Given the description of an element on the screen output the (x, y) to click on. 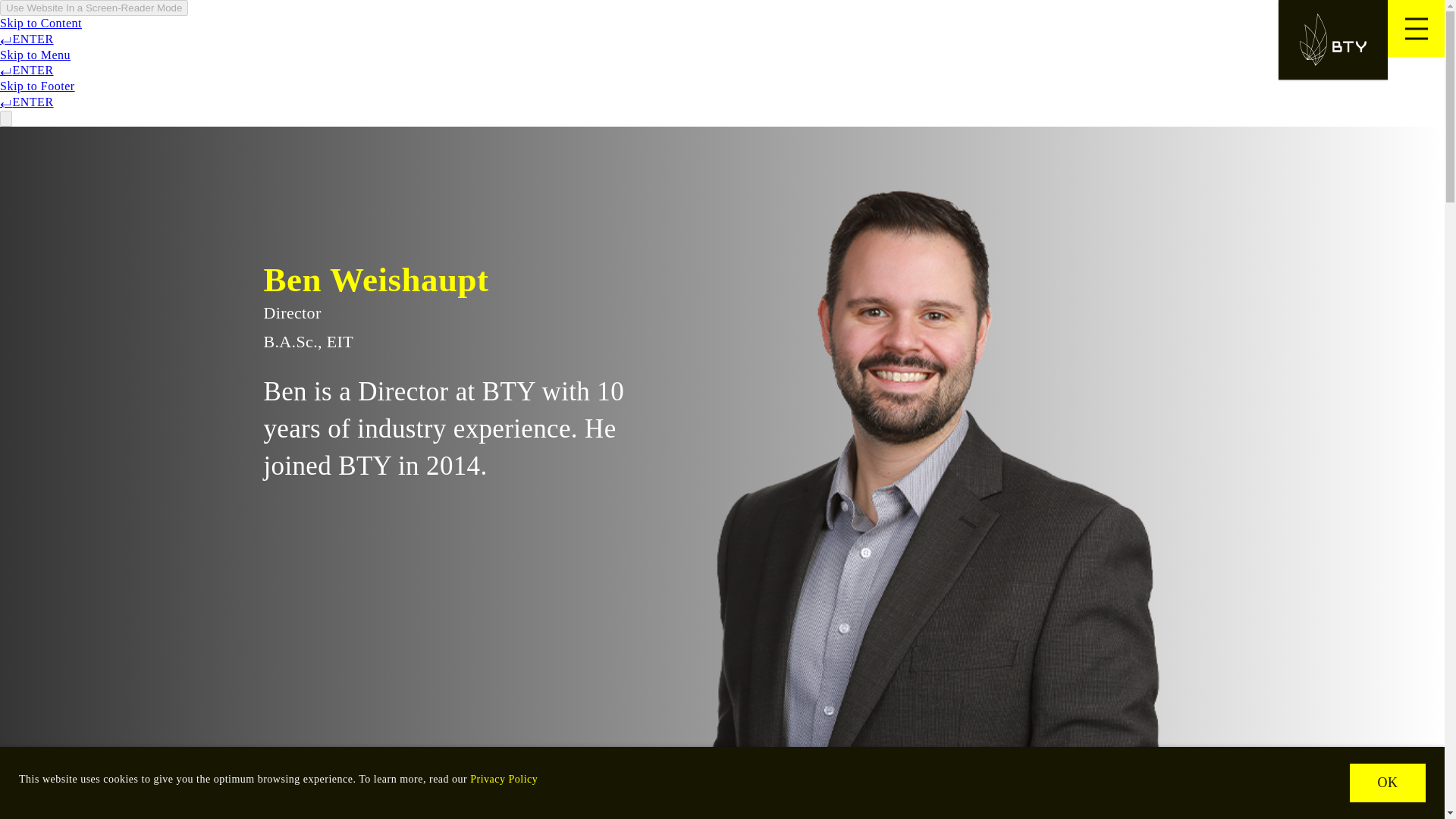
BTY logo (1332, 39)
BTY logo (1331, 39)
